Given the description of an element on the screen output the (x, y) to click on. 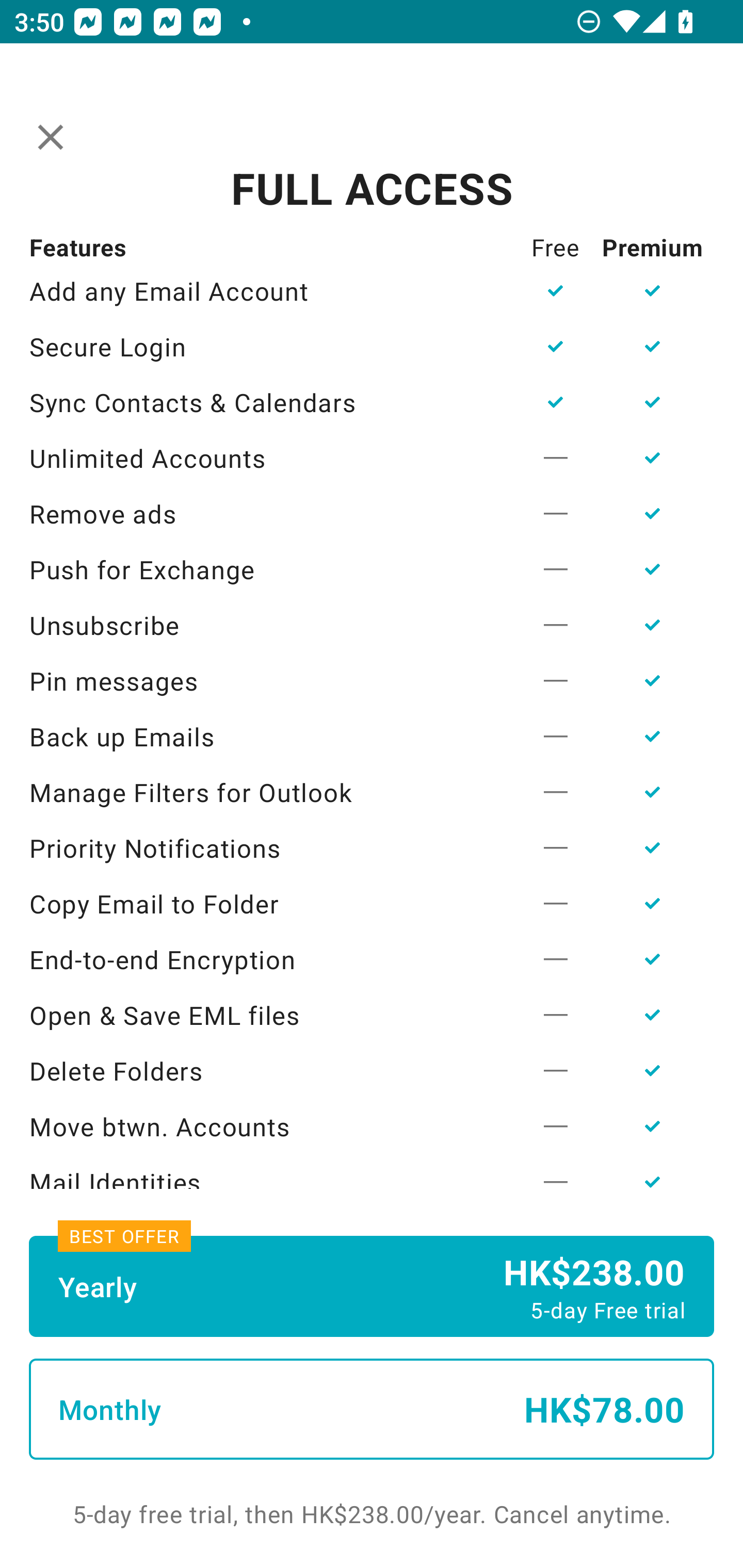
Yearly HK$238.00 5-day Free trial (371, 1286)
Monthly HK$78.00 (371, 1408)
